Given the description of an element on the screen output the (x, y) to click on. 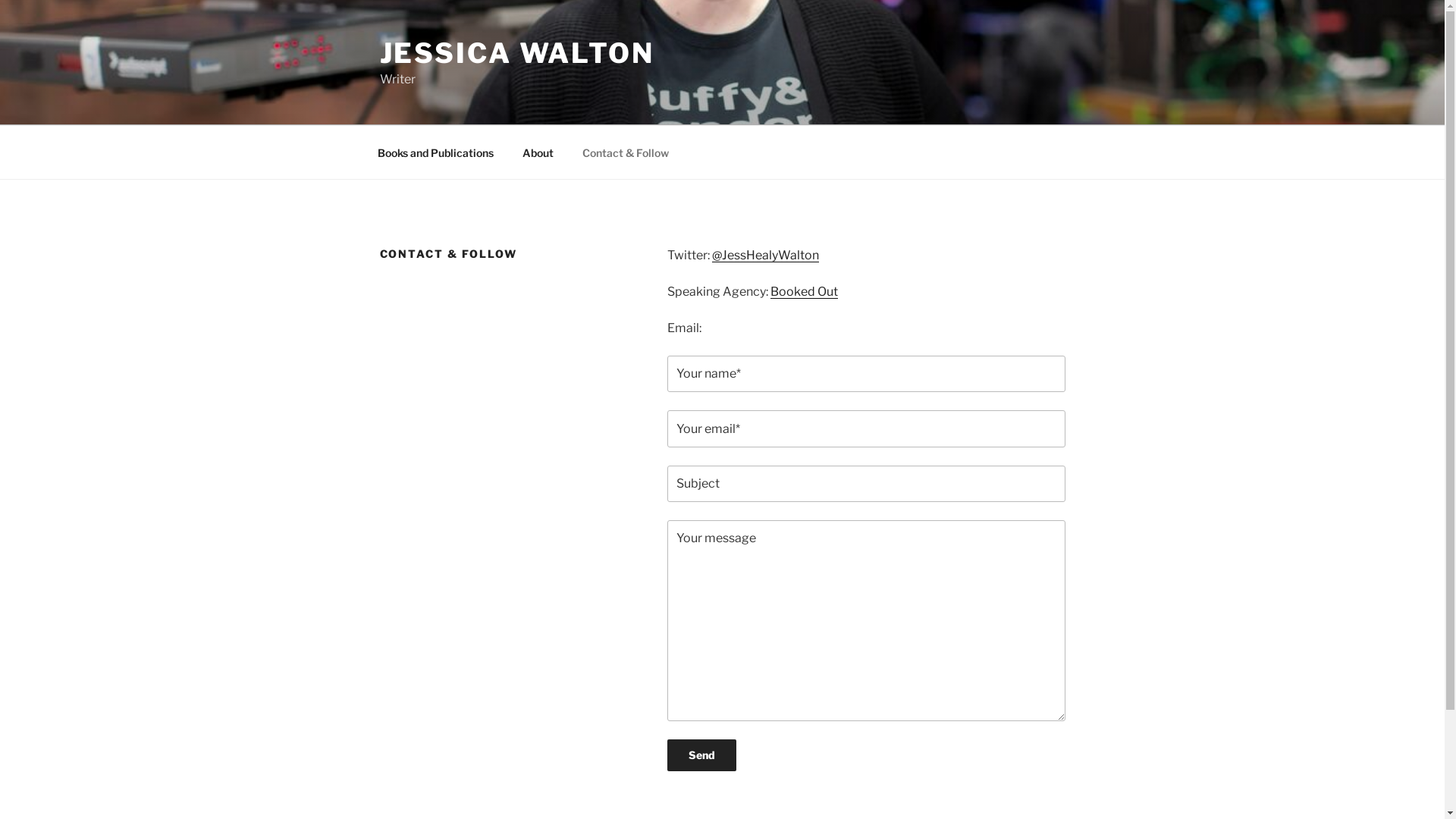
Send Element type: text (701, 754)
@JessHealyWalton Element type: text (765, 254)
Booked Out Element type: text (803, 291)
About Element type: text (538, 151)
Contact & Follow Element type: text (624, 151)
Books and Publications Element type: text (435, 151)
JESSICA WALTON Element type: text (516, 52)
